Given the description of an element on the screen output the (x, y) to click on. 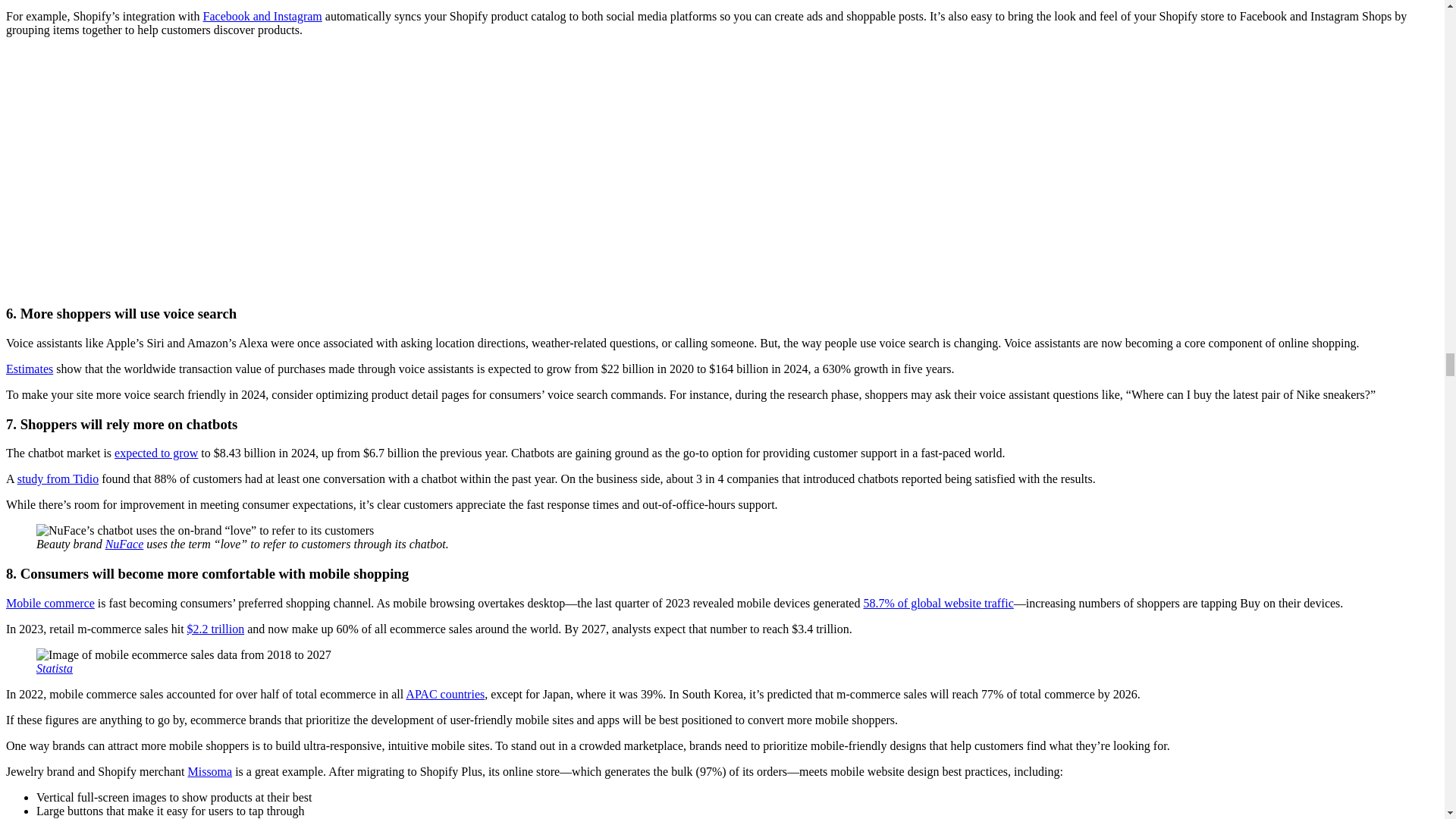
YouTube video player (721, 168)
